Given the description of an element on the screen output the (x, y) to click on. 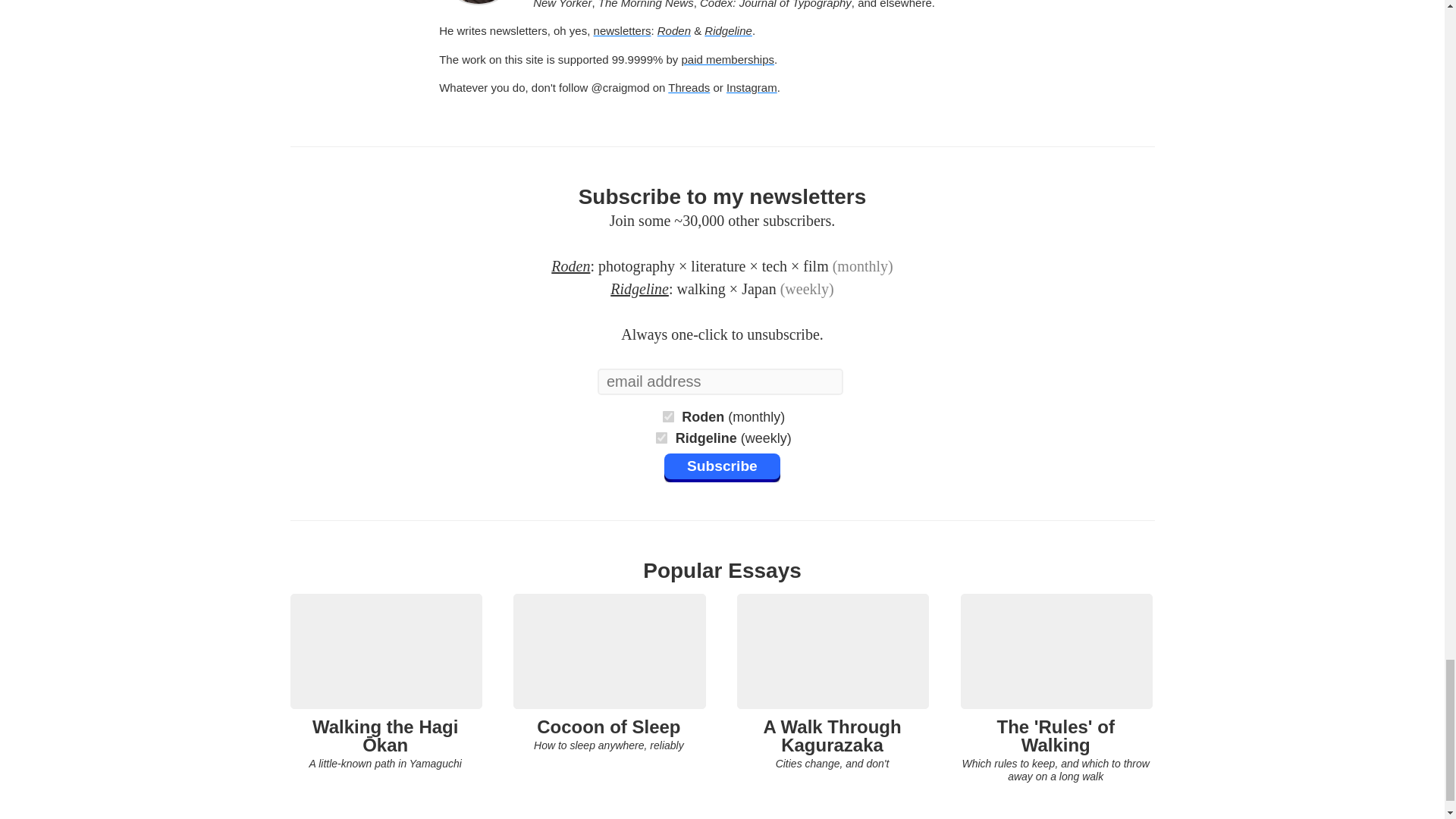
Instagram (751, 87)
Roden (570, 265)
Ridgeline (608, 672)
Roden (728, 30)
newsletters (674, 30)
Threads (622, 30)
ofjlhy (689, 87)
ukldddu (660, 436)
Subscribe (666, 415)
Ridgeline (721, 469)
paid memberships (639, 288)
